Given the description of an element on the screen output the (x, y) to click on. 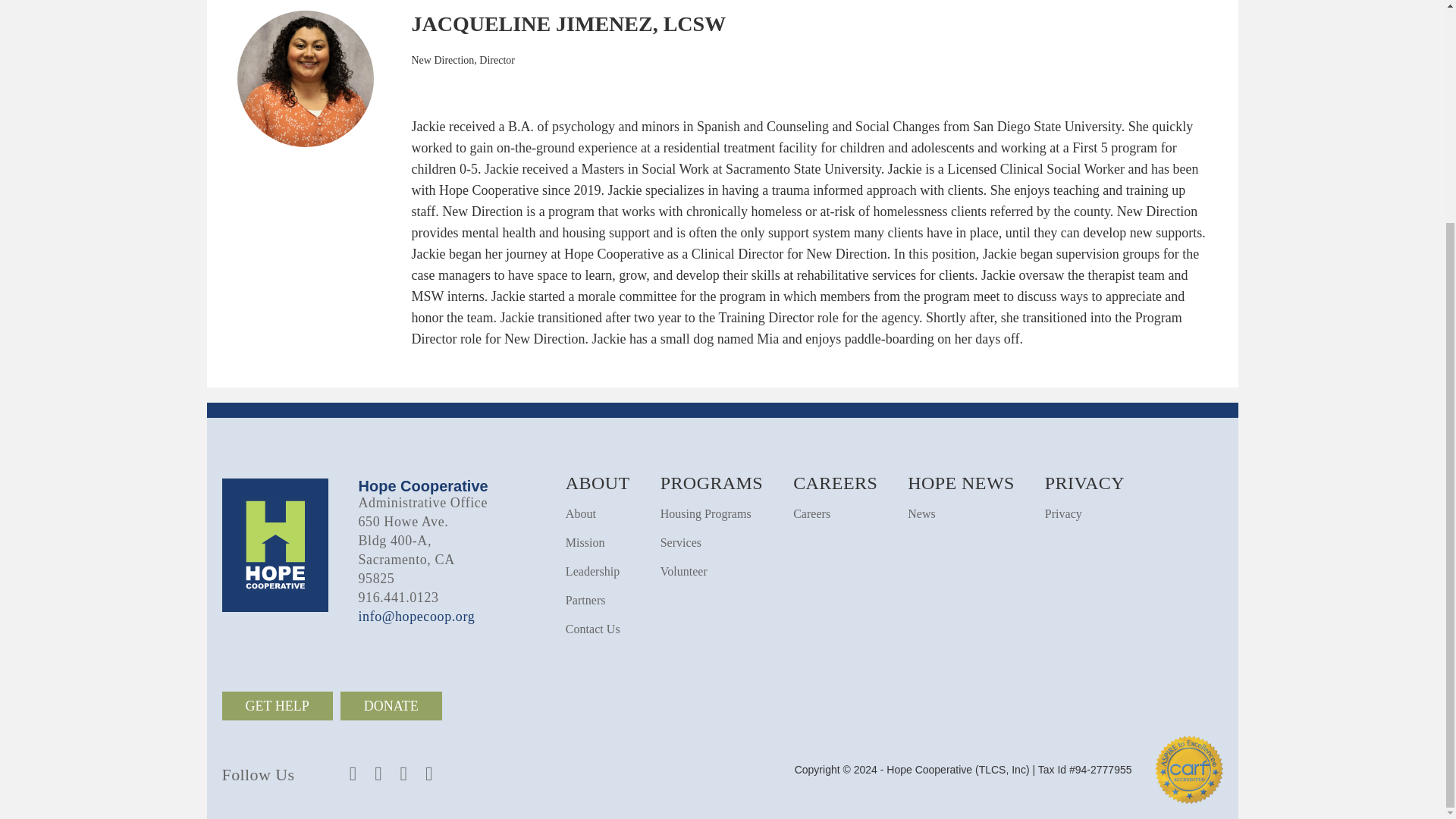
PRIVACY (1084, 483)
Partners (585, 599)
ABOUT (598, 483)
Volunteer (684, 571)
CAREERS (835, 483)
Careers (811, 513)
Housing Programs (706, 513)
About (580, 513)
DONATE (391, 705)
Leadership (593, 571)
Privacy (1063, 513)
News (921, 513)
Services (681, 542)
Contact Us (593, 628)
Mission (585, 542)
